Given the description of an element on the screen output the (x, y) to click on. 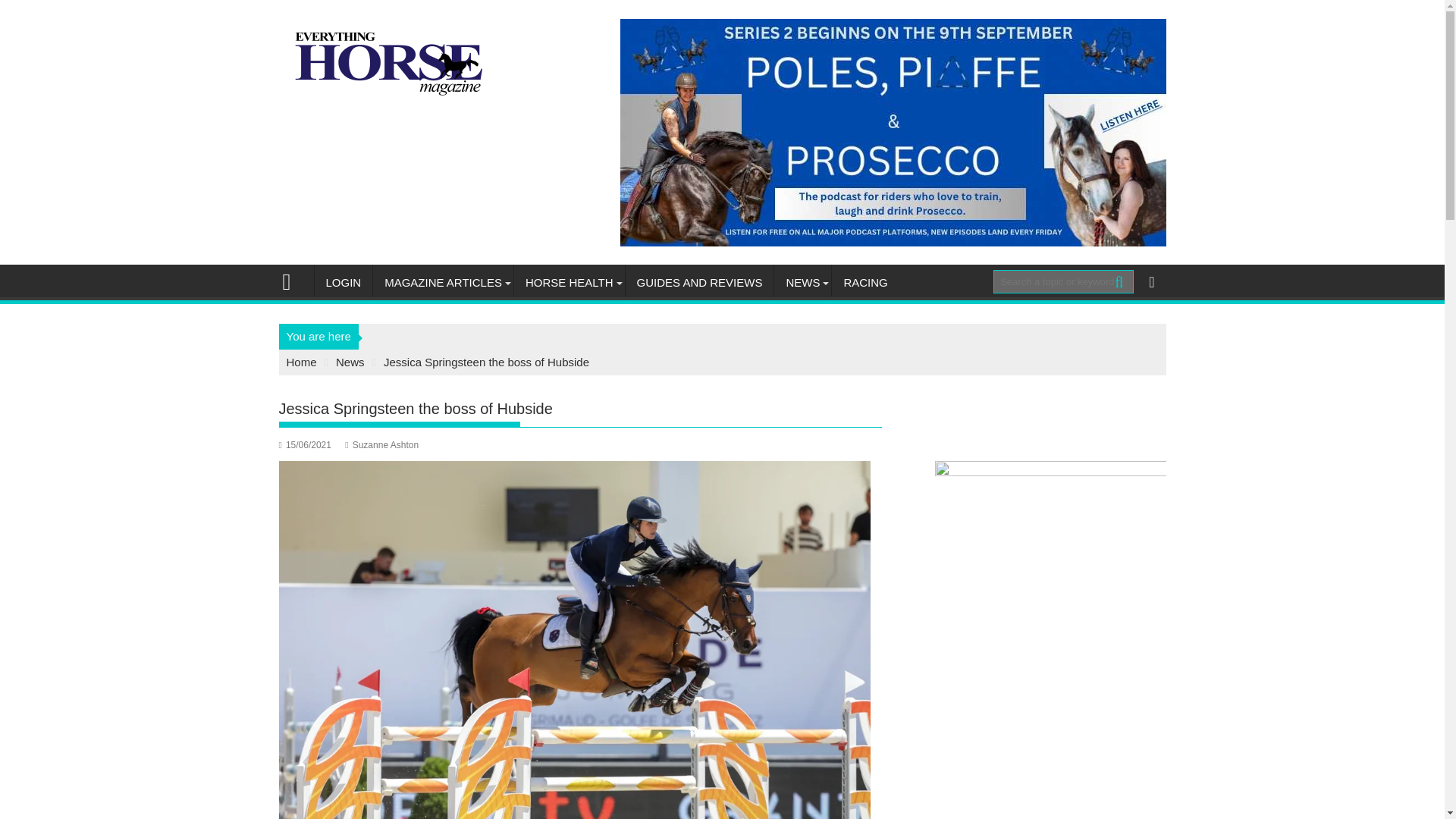
MAGAZINE ARTICLES (442, 282)
Home (301, 361)
HORSE HEALTH (568, 282)
Everything Horse Magazine (293, 280)
GUIDES AND REVIEWS (700, 282)
RACING (864, 282)
News (350, 361)
NEWS (802, 282)
LOGIN (343, 282)
